Given the description of an element on the screen output the (x, y) to click on. 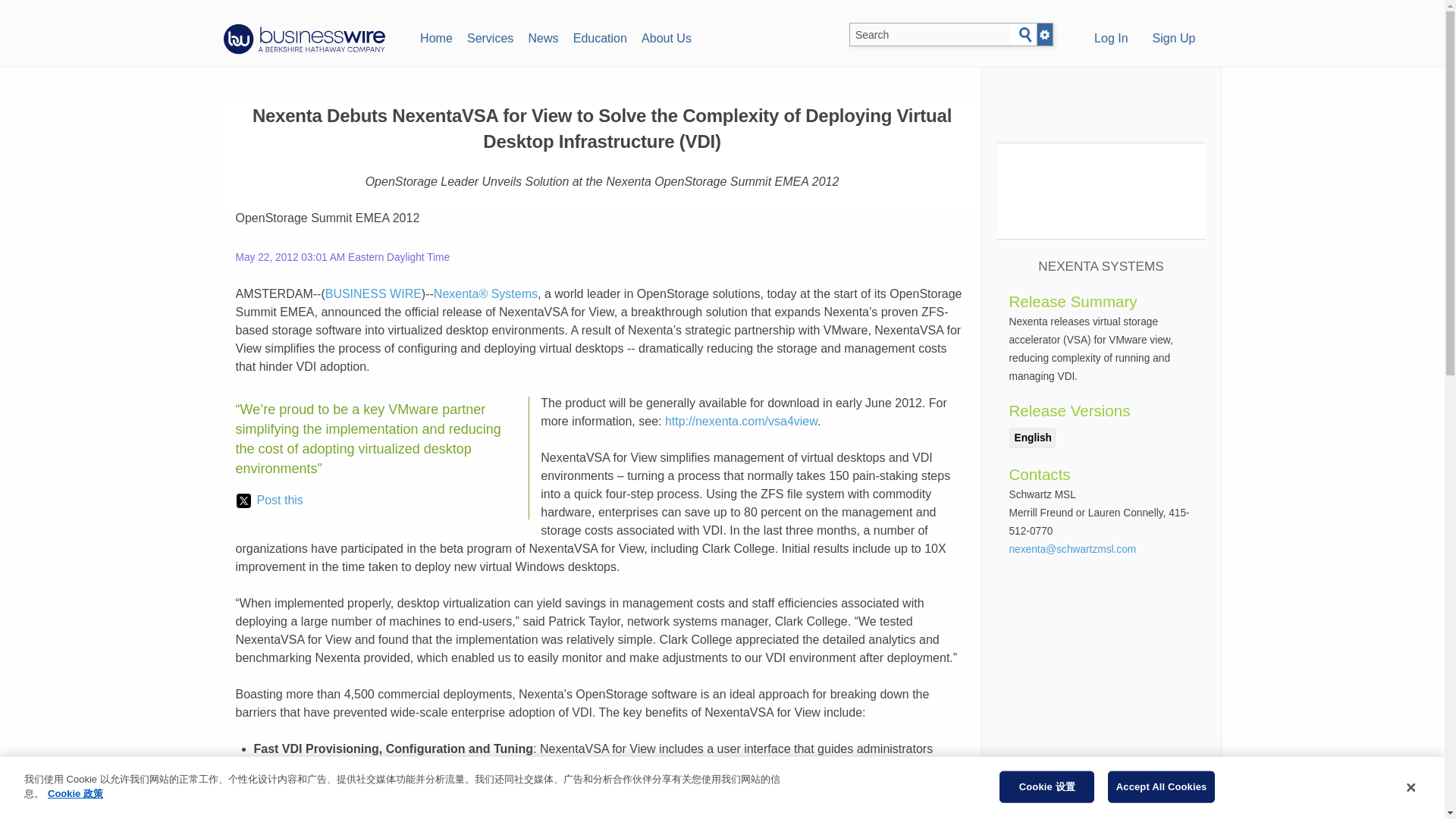
News (543, 36)
About Us (665, 36)
BUSINESS WIRE (373, 293)
Post this (269, 499)
Education (599, 36)
Search BusinessWire.com (930, 34)
Home (436, 36)
Services (490, 36)
Search (1025, 34)
